Given the description of an element on the screen output the (x, y) to click on. 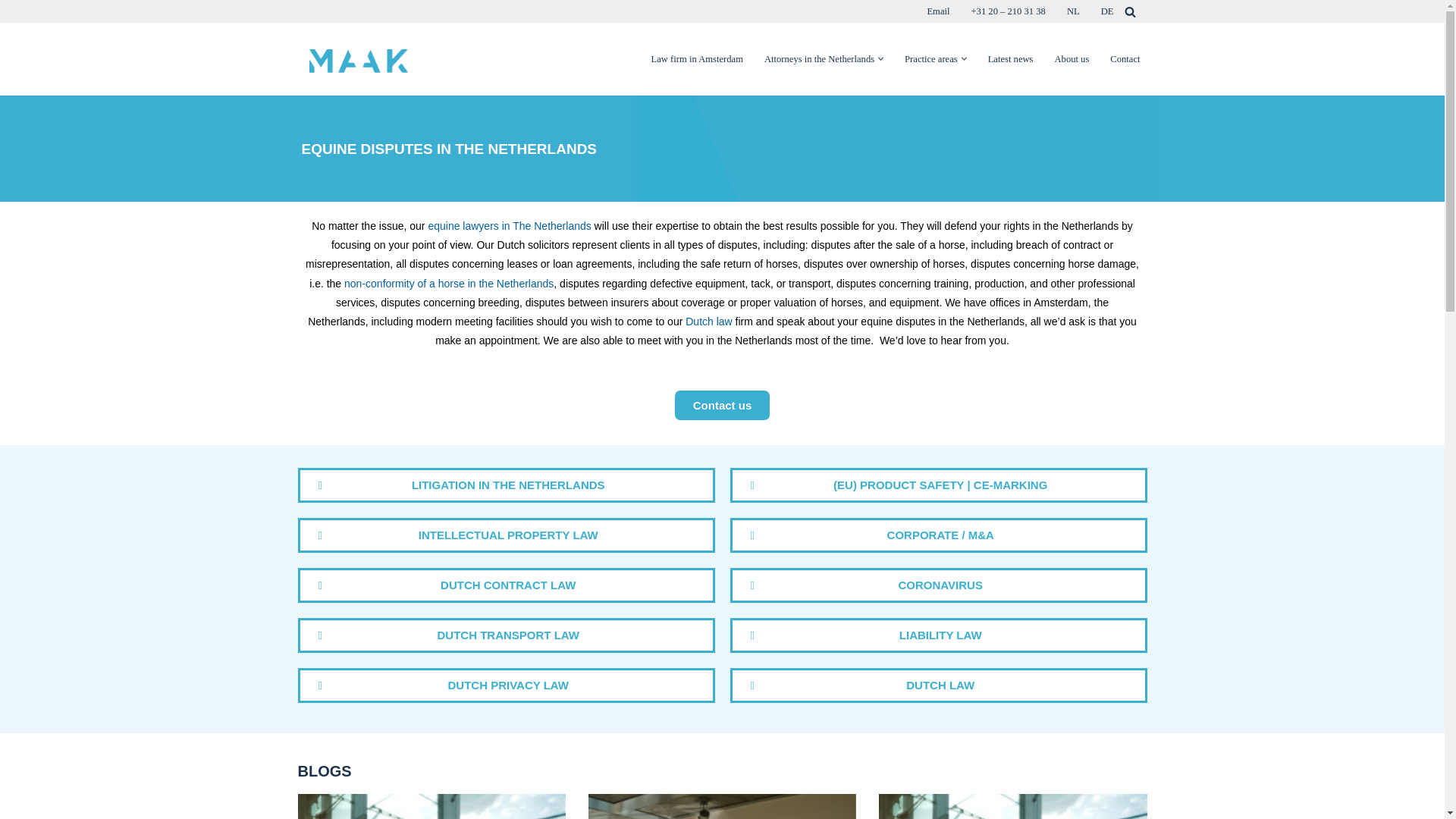
Law firm in Amsterdam (696, 58)
Attorneys in the Netherlands (819, 58)
Skip to content (11, 31)
Latest news (1010, 58)
Contact (1124, 58)
About us (1071, 58)
Practice areas (931, 58)
background-2 (686, 148)
Email (937, 10)
